Given the description of an element on the screen output the (x, y) to click on. 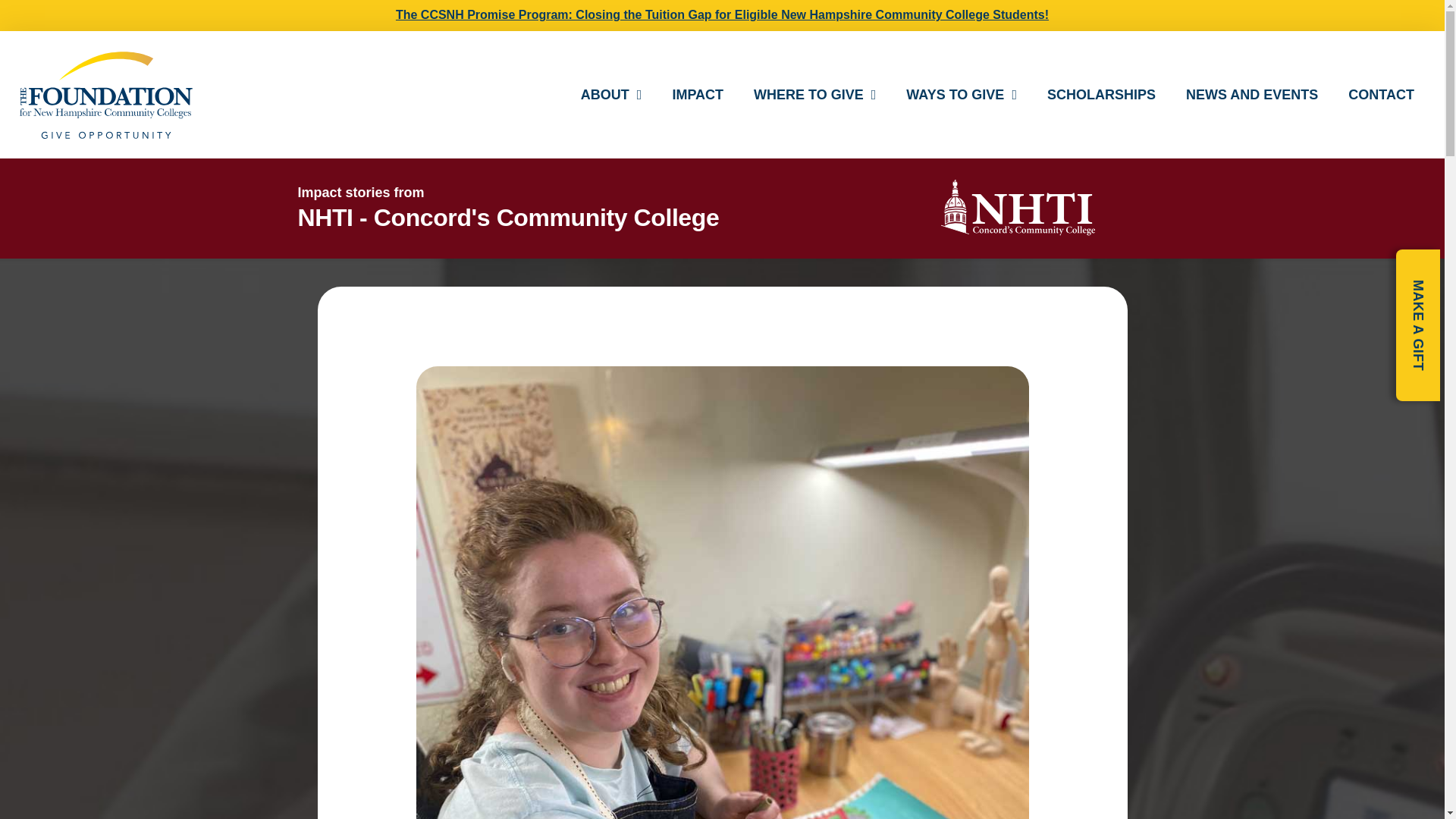
IMPACT (697, 94)
WHERE TO GIVE (814, 94)
NEWS AND EVENTS (1251, 94)
WAYS TO GIVE (961, 94)
ABOUT (612, 94)
SCHOLARSHIPS (1101, 94)
CONTACT (1381, 94)
